Given the description of an element on the screen output the (x, y) to click on. 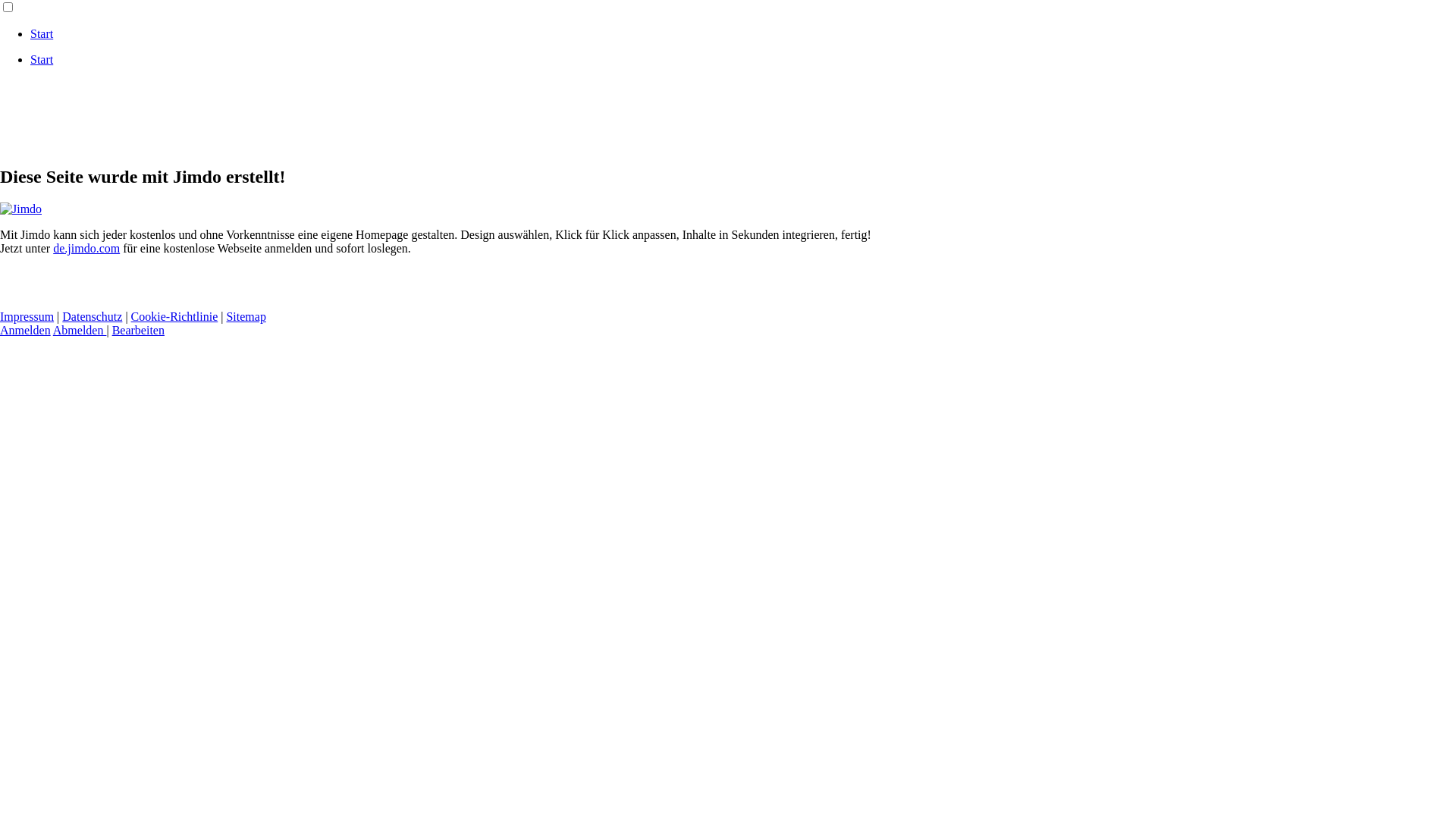
Impressum Element type: text (26, 316)
Sitemap Element type: text (245, 316)
de.jimdo.com Element type: text (86, 247)
Abmelden Element type: text (79, 329)
Cookie-Richtlinie Element type: text (174, 316)
Jimdo Element type: hover (20, 209)
Bearbeiten Element type: text (138, 329)
Anmelden Element type: text (25, 329)
Datenschutz Element type: text (92, 316)
Start Element type: text (41, 33)
Start Element type: text (41, 59)
